Given the description of an element on the screen output the (x, y) to click on. 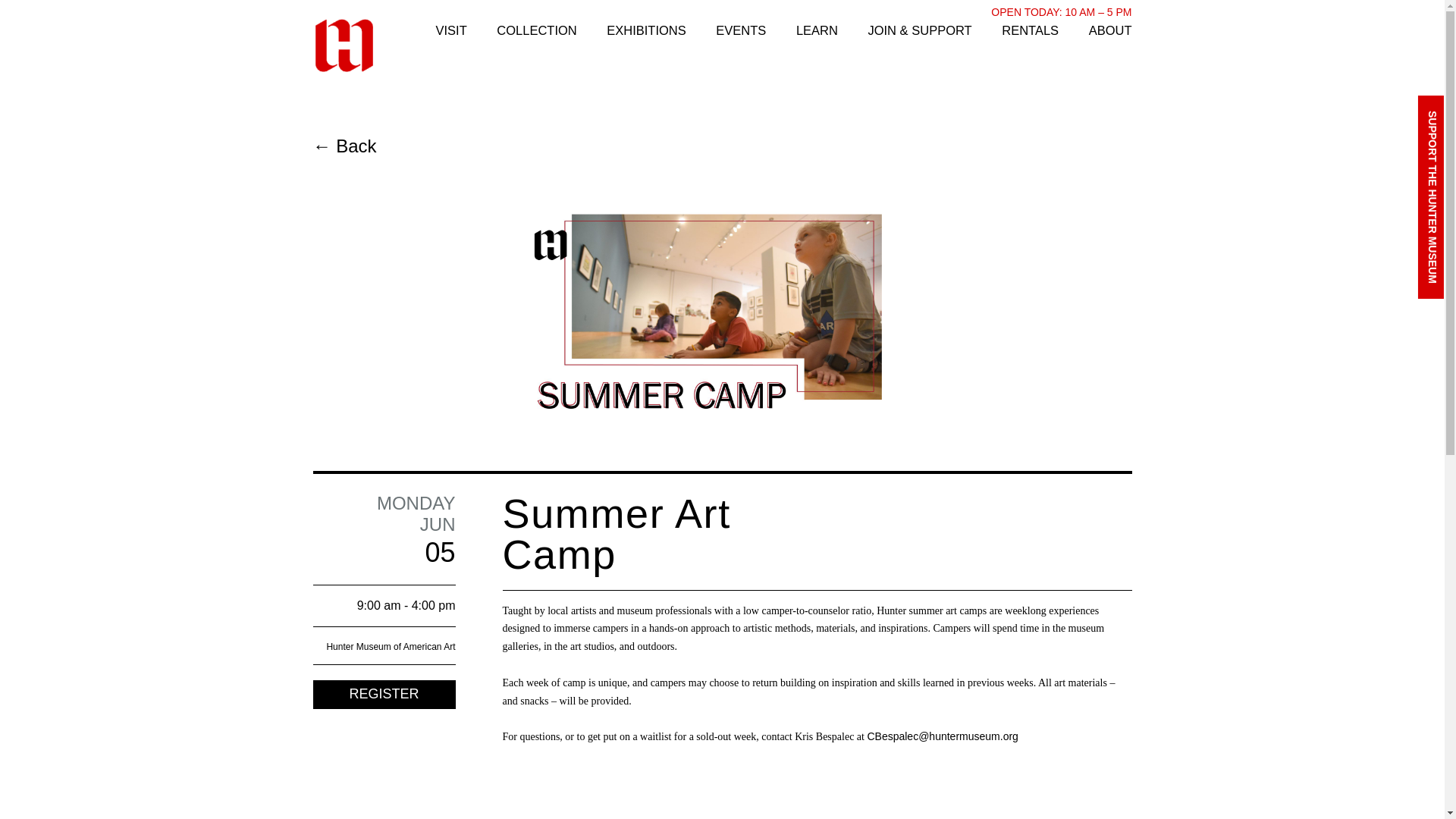
EXHIBITIONS (646, 30)
RENTALS (1029, 30)
EVENTS (740, 30)
ABOUT (1110, 30)
COLLECTION (536, 30)
VISIT (450, 30)
LEARN (817, 30)
